Given the description of an element on the screen output the (x, y) to click on. 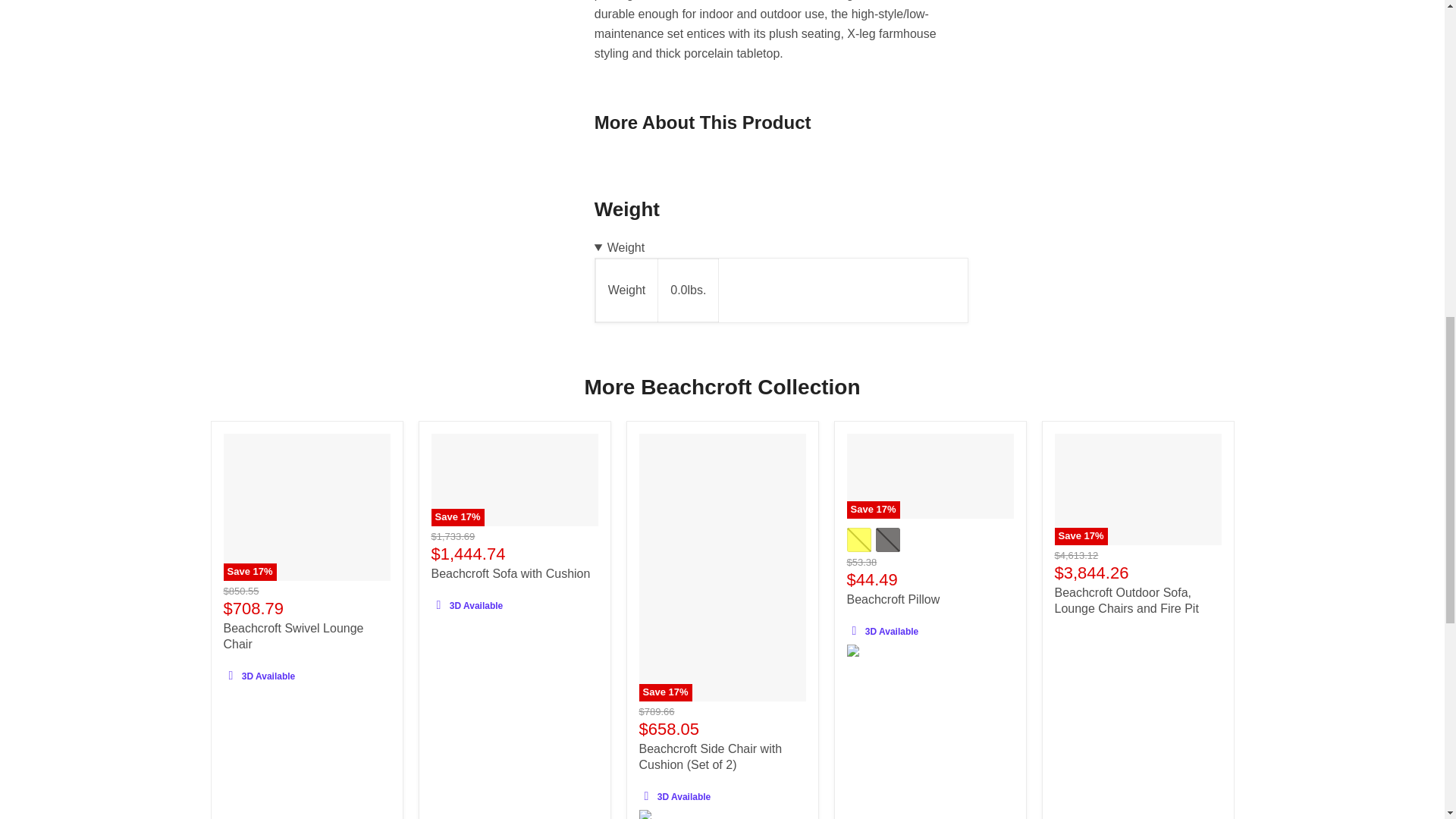
3D Viewing Available (437, 605)
3D Viewing Available (230, 675)
3D Viewing Available (646, 795)
3D Viewing Available (853, 630)
